Given the description of an element on the screen output the (x, y) to click on. 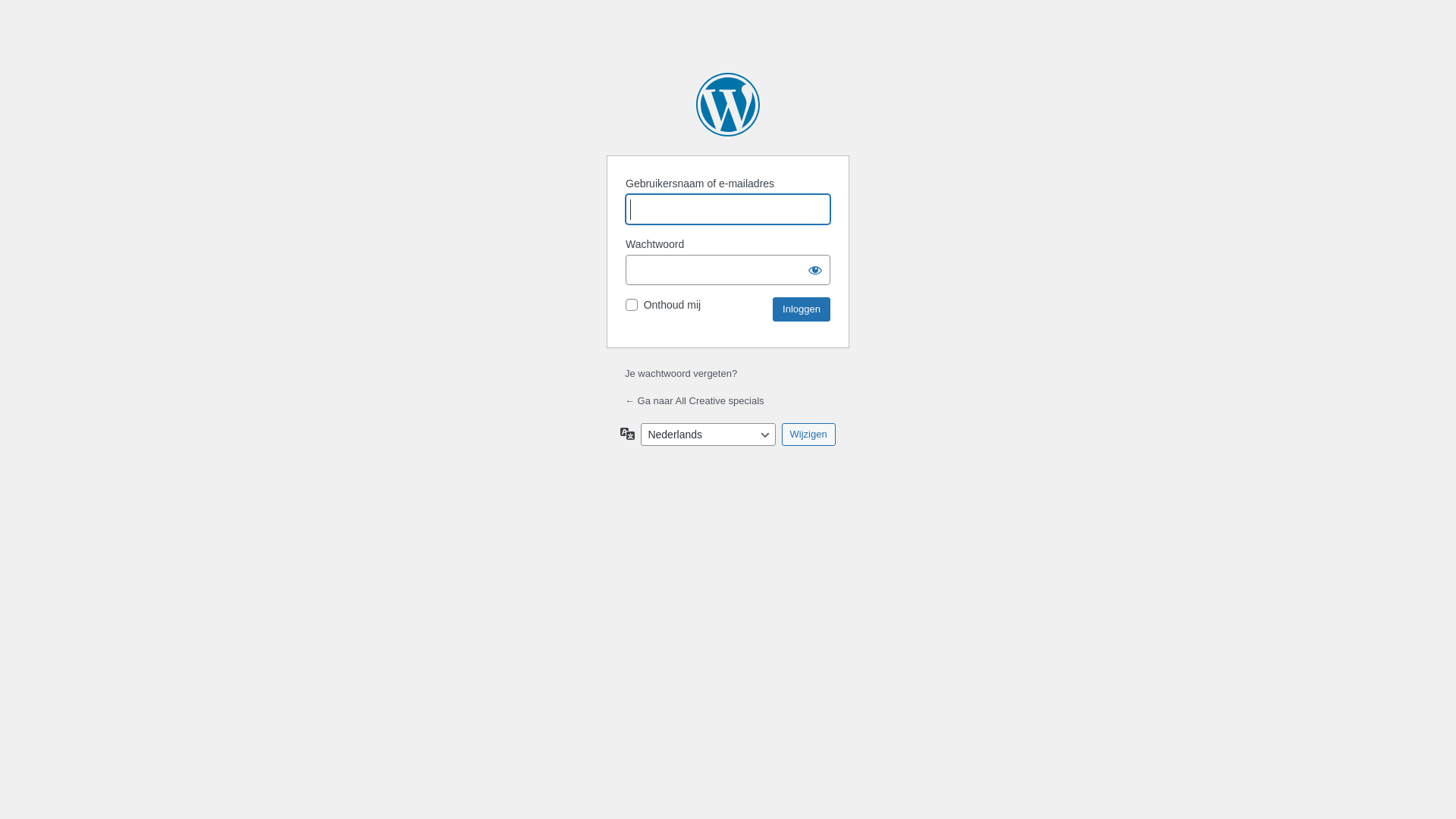
Mogelijk gemaakt door WordPress Element type: text (727, 104)
Wijzigen Element type: text (808, 434)
Je wachtwoord vergeten? Element type: text (680, 373)
Inloggen Element type: text (801, 309)
